Given the description of an element on the screen output the (x, y) to click on. 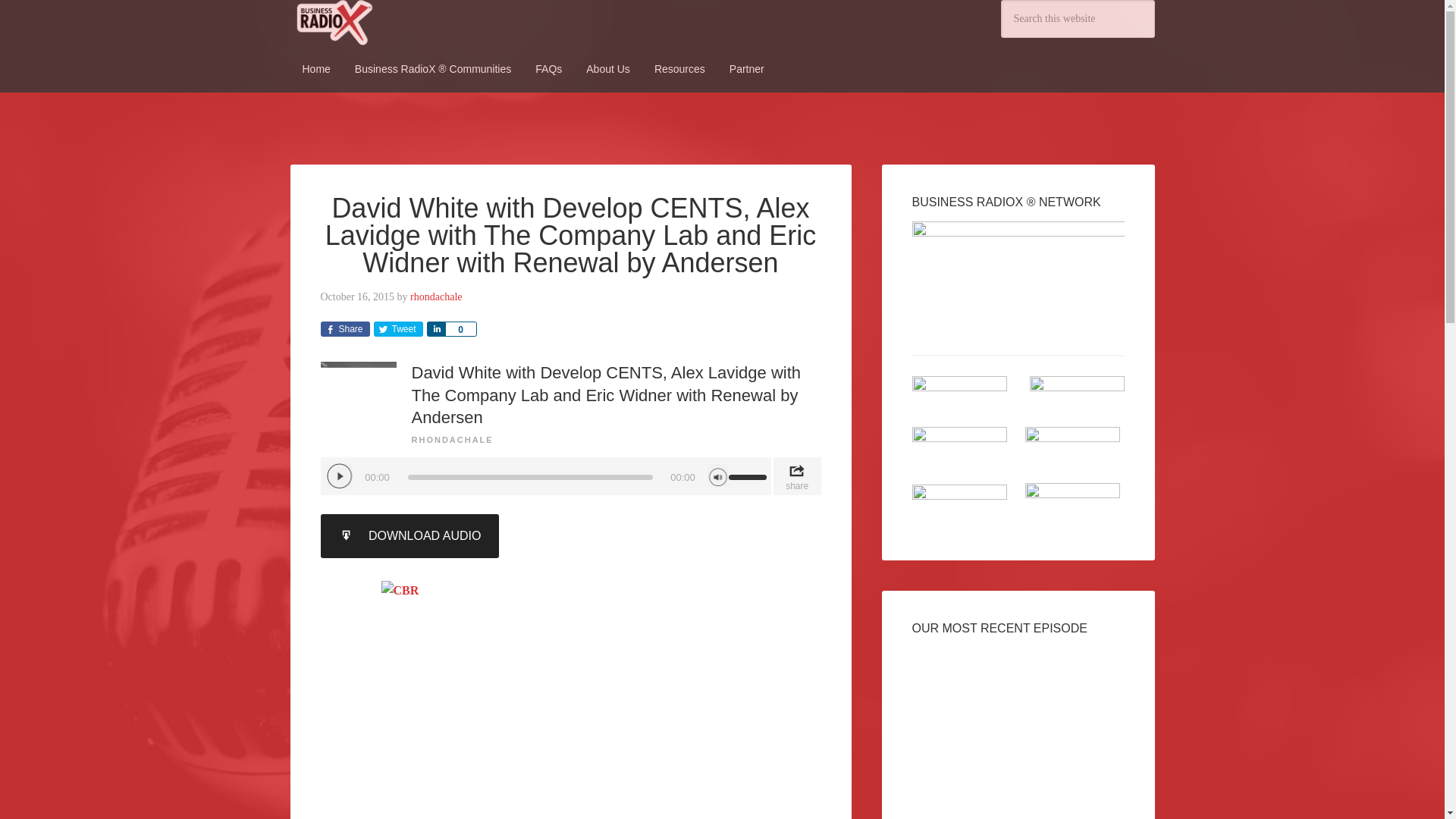
Play (339, 475)
Mute (717, 475)
Home (315, 68)
